Given the description of an element on the screen output the (x, y) to click on. 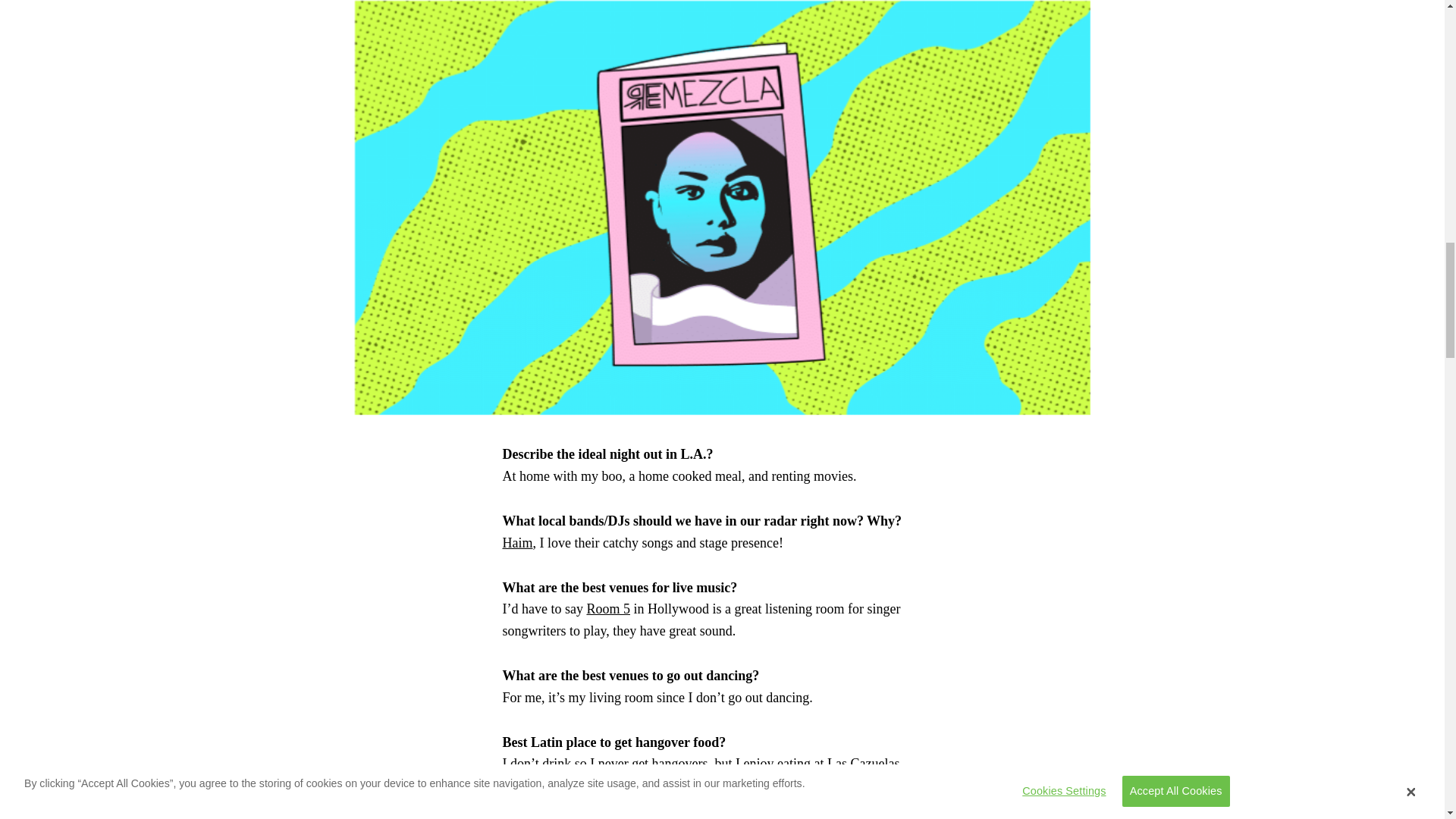
Las Cazuelas (863, 763)
Haim (517, 542)
Room 5 (608, 608)
